Given the description of an element on the screen output the (x, y) to click on. 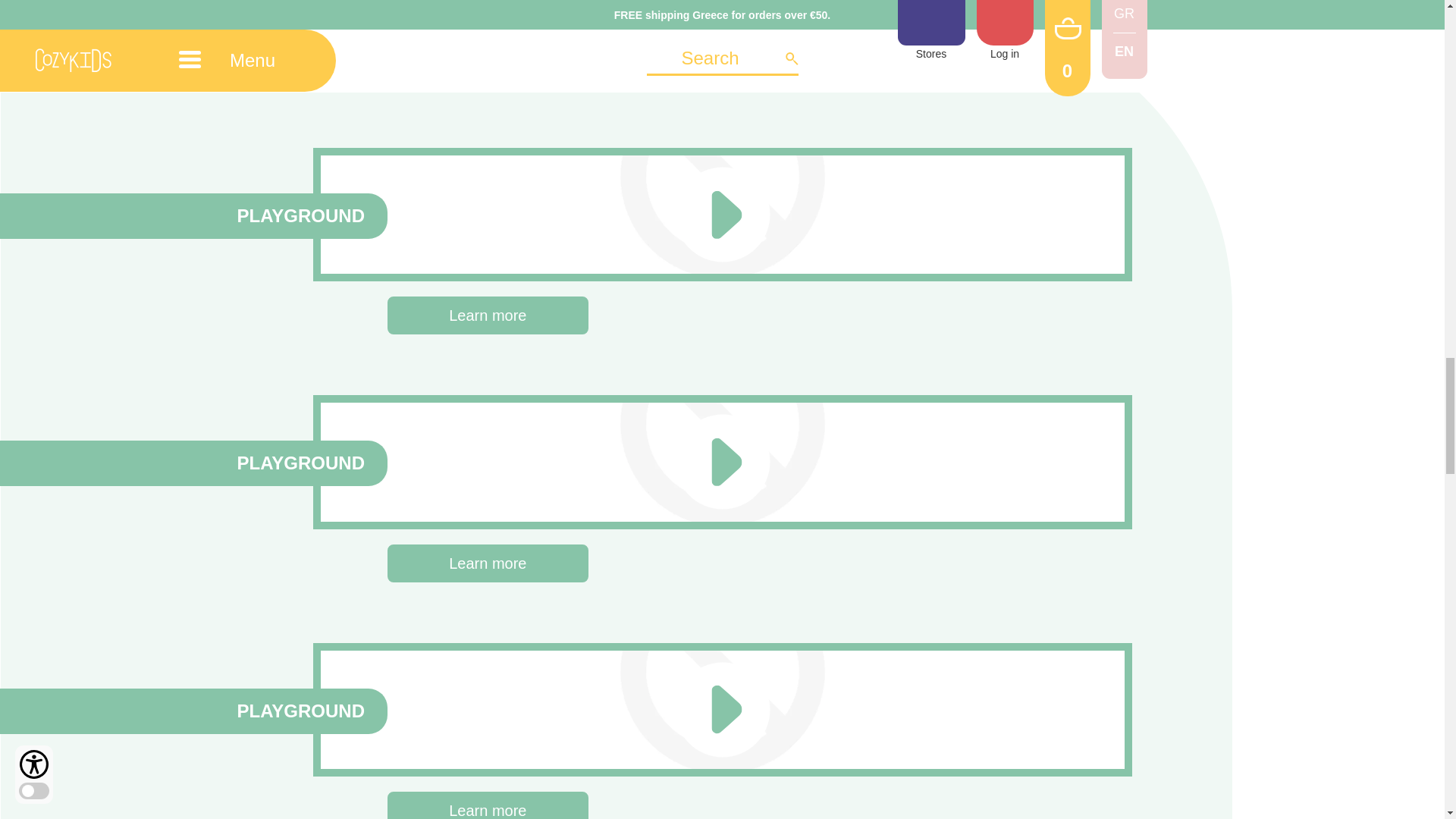
CozyKids Playground video (433, 212)
CozyKids Playground video (433, 707)
CozyKids Playground video (433, 459)
